Given the description of an element on the screen output the (x, y) to click on. 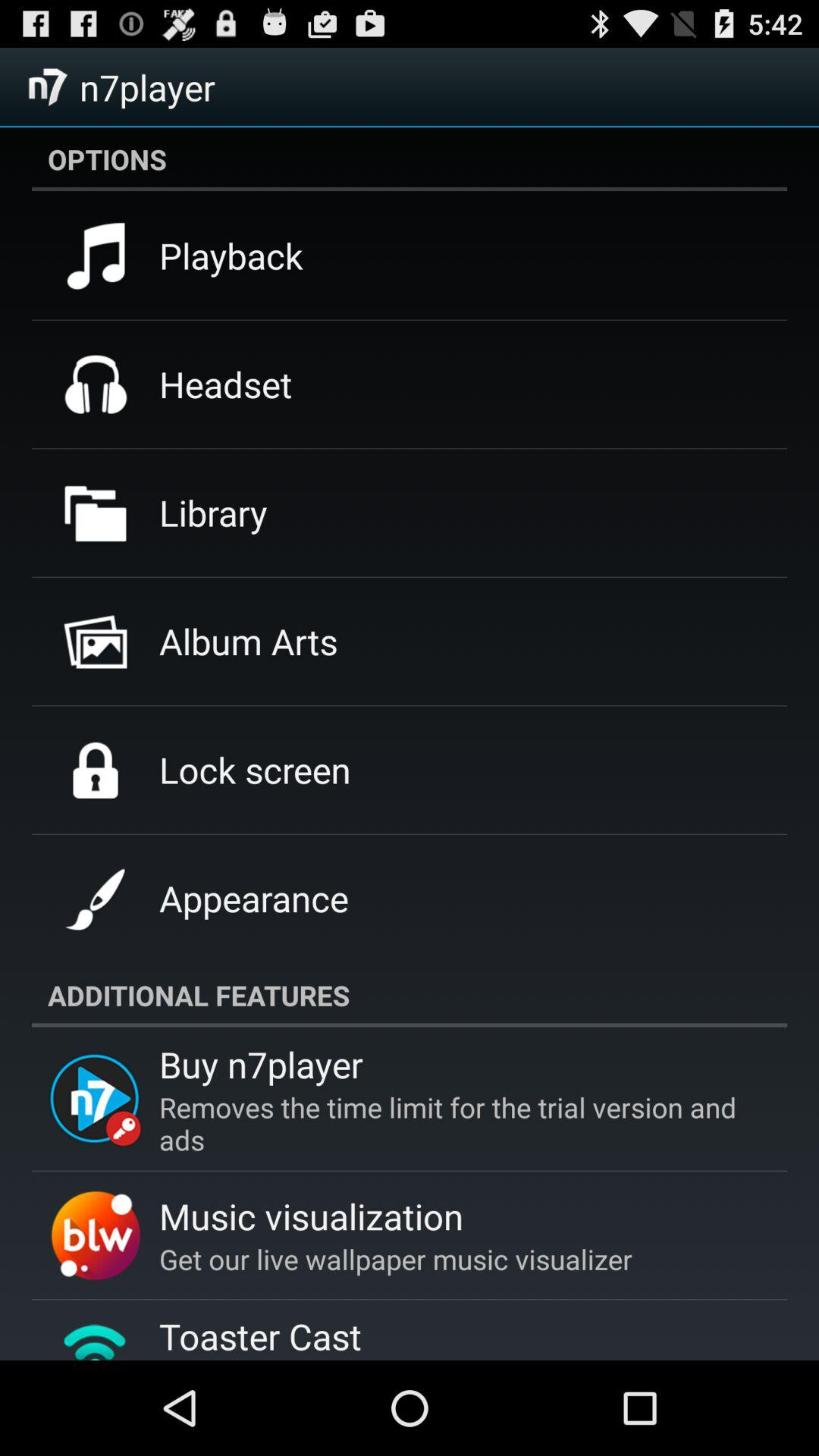
jump to the appearance app (253, 898)
